Given the description of an element on the screen output the (x, y) to click on. 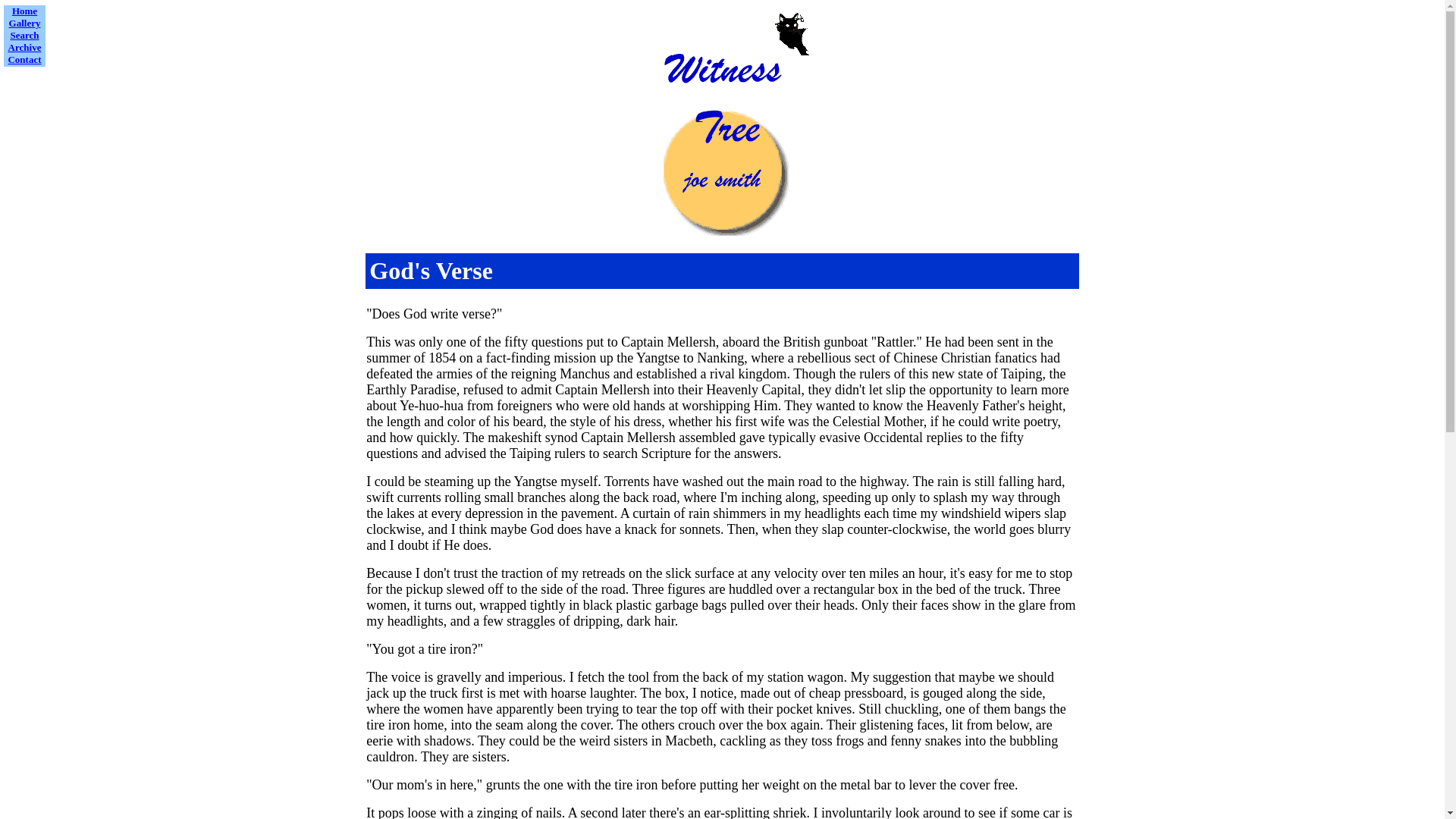
Gallery (24, 22)
Search (24, 34)
Contact (23, 59)
Home (24, 10)
Archive (25, 47)
